Given the description of an element on the screen output the (x, y) to click on. 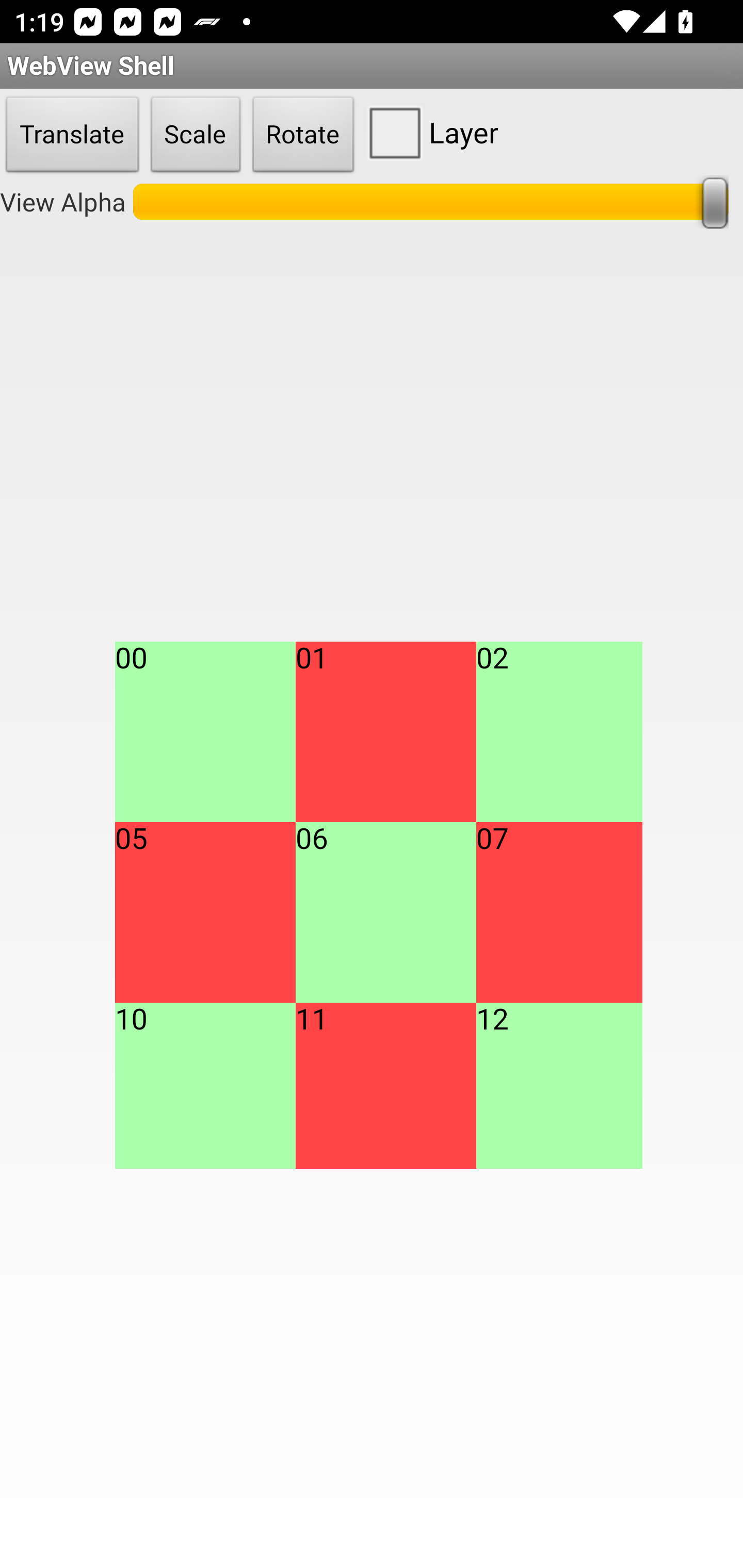
Layer (429, 132)
Translate (72, 135)
Scale (195, 135)
Rotate (303, 135)
